Given the description of an element on the screen output the (x, y) to click on. 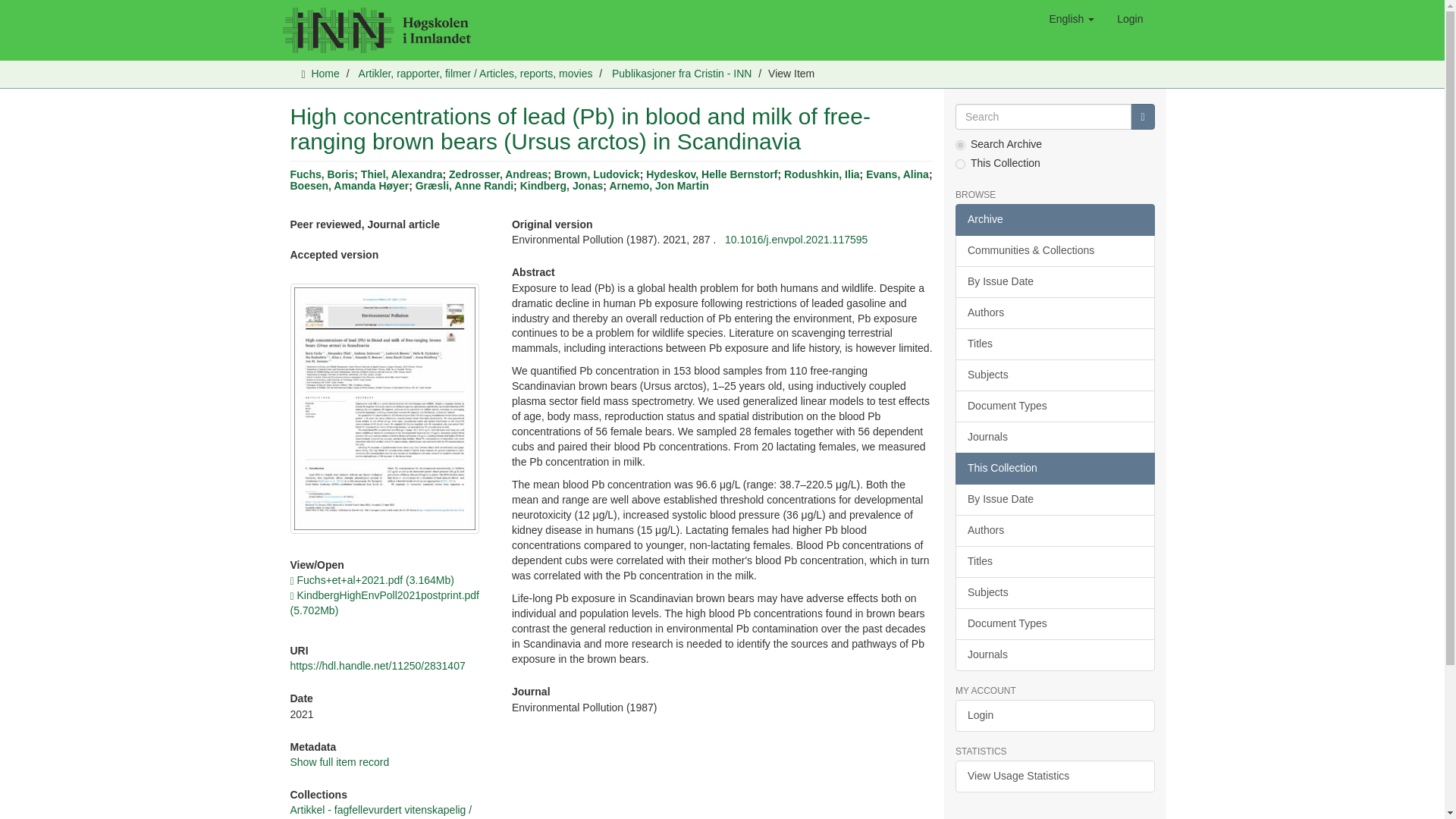
Arnemo, Jon Martin (657, 185)
English  (1070, 18)
Hydeskov, Helle Bernstorf (711, 174)
Show full item record (338, 761)
Login (1129, 18)
Zedrosser, Andreas (497, 174)
Home (325, 73)
Publikasjoner fra Cristin - INN (681, 73)
Brown, Ludovick (597, 174)
Thiel, Alexandra (401, 174)
